Given the description of an element on the screen output the (x, y) to click on. 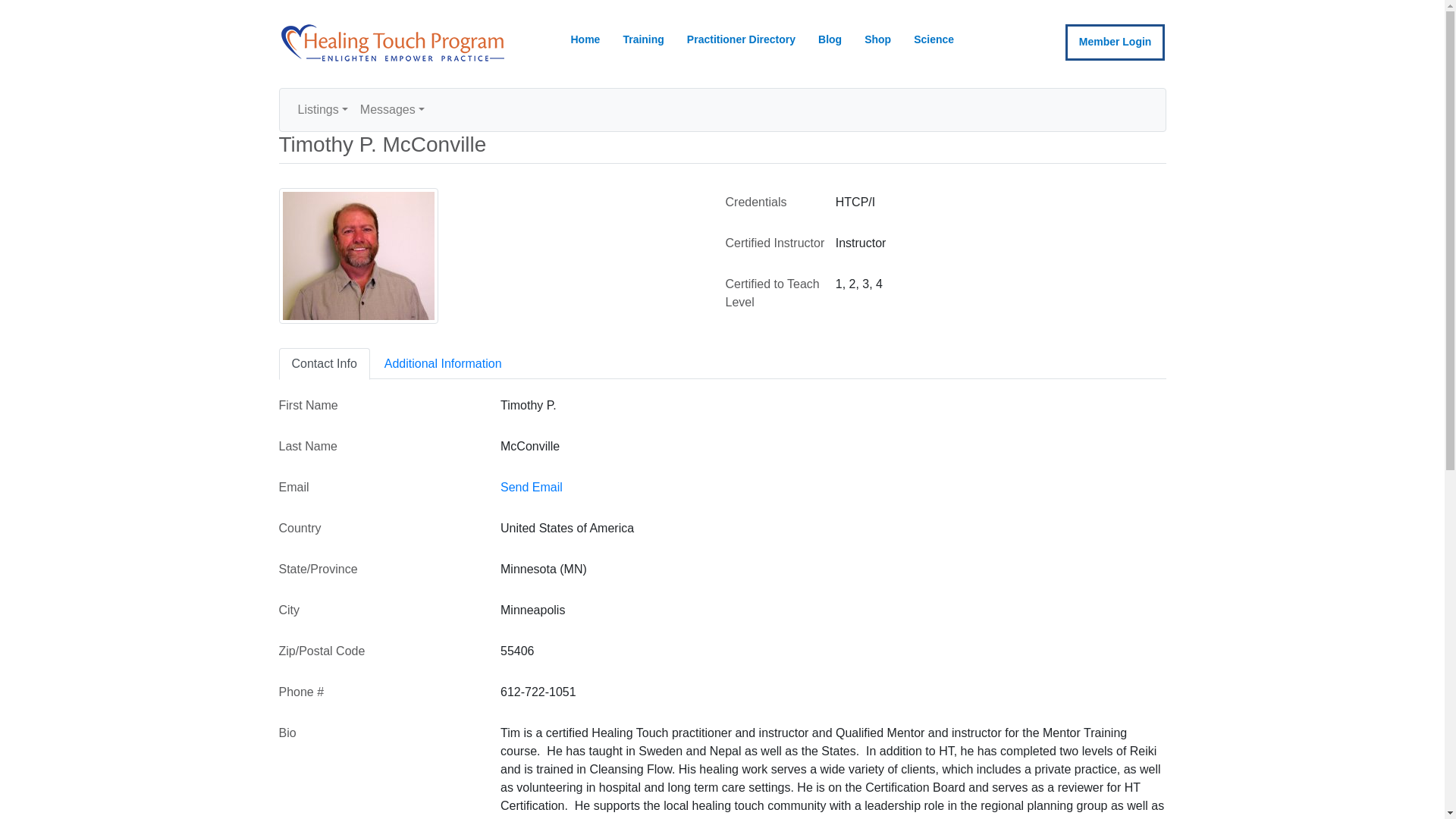
Science (933, 40)
Additional Information (443, 364)
Send an Email to this user (531, 486)
Send Email (531, 486)
Member Login (1115, 42)
Timothy P. McConville (358, 255)
Training (643, 40)
Practitioner Directory (740, 40)
Listings (322, 110)
Shop (877, 40)
Blog (829, 40)
Messages (391, 110)
Home (585, 40)
Contact Info (324, 364)
